Given the description of an element on the screen output the (x, y) to click on. 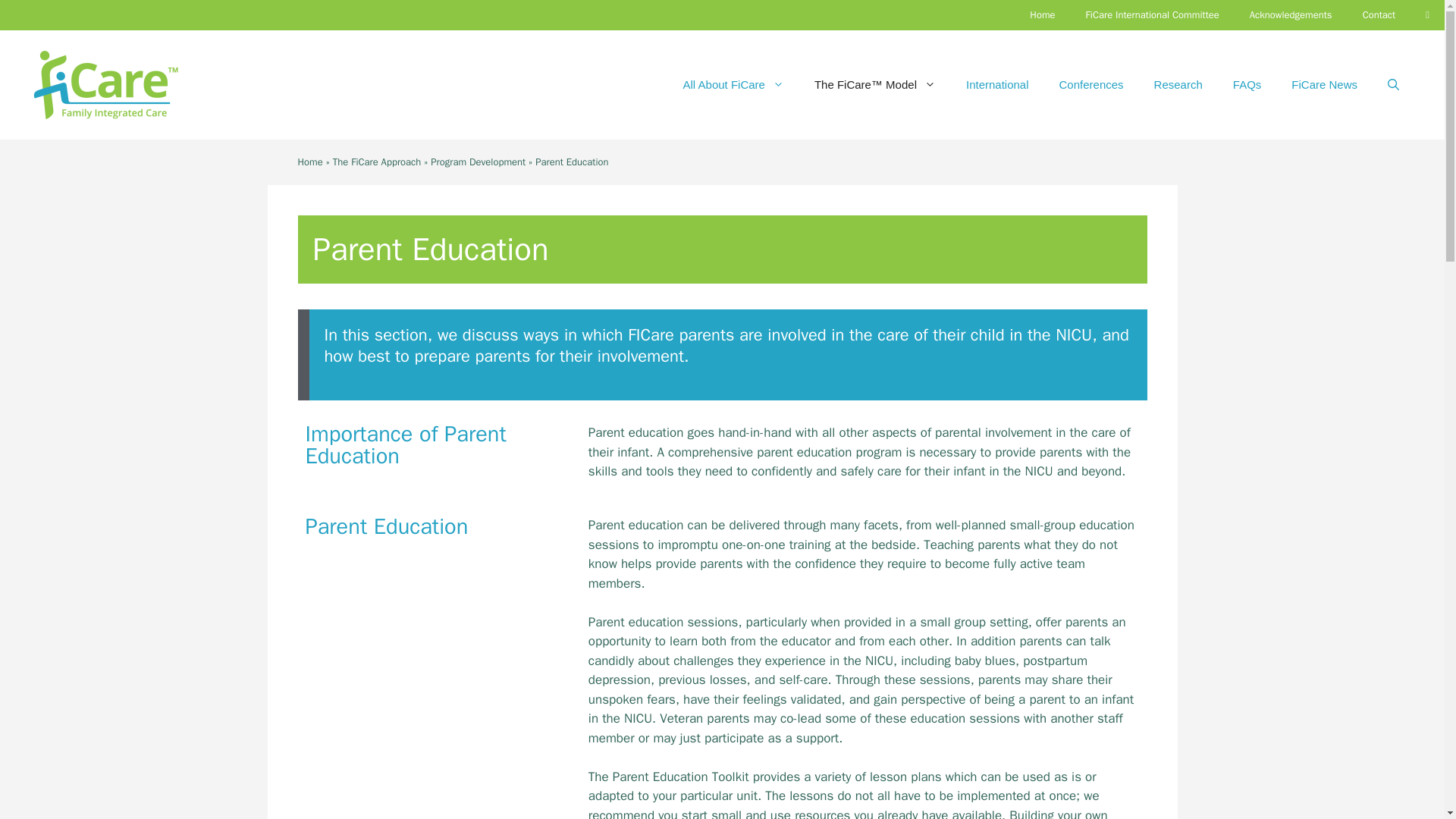
FAQs (1246, 84)
FiCare News (1324, 84)
Home (1042, 15)
Home (309, 161)
Research (1177, 84)
The FiCare Approach (377, 161)
International (996, 84)
Contact (1379, 15)
FiCare International Committee (1152, 15)
All About FiCare (733, 84)
